Given the description of an element on the screen output the (x, y) to click on. 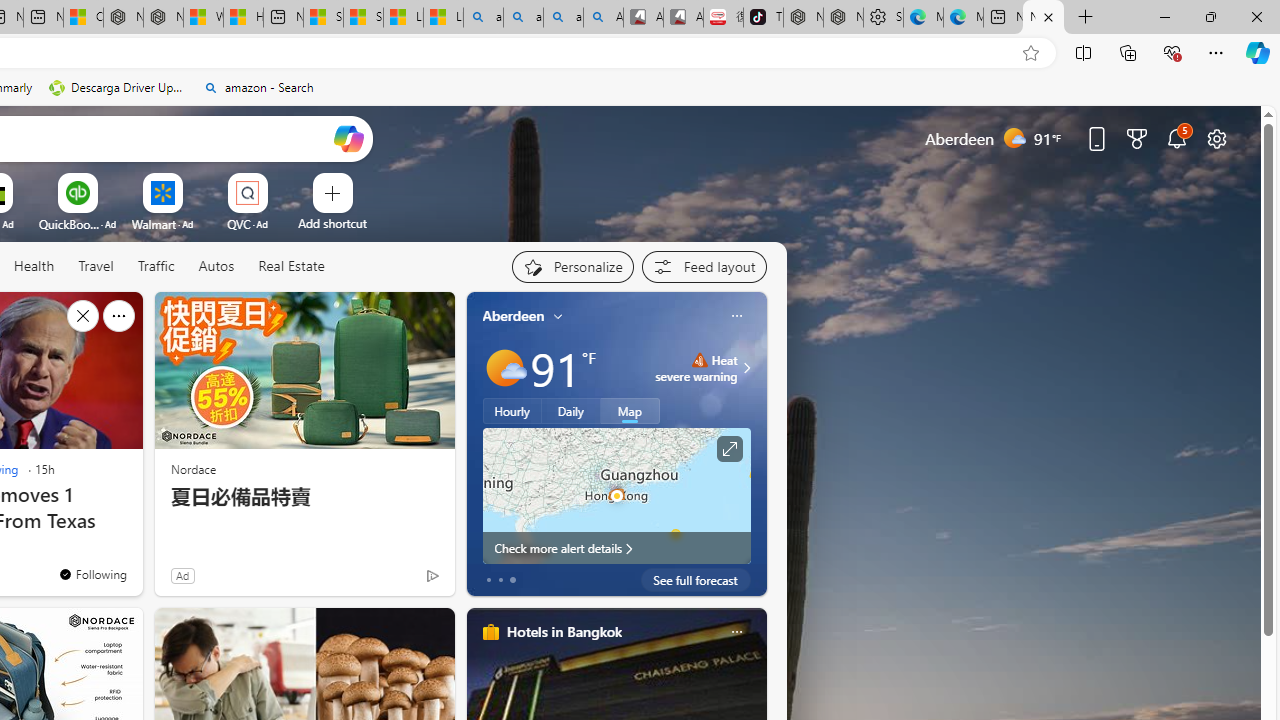
More options (736, 631)
Travel (95, 267)
Wildlife - MSN (203, 17)
Amazon Echo Robot - Search Images (603, 17)
Add a site (332, 223)
Open Copilot (347, 138)
